Given the description of an element on the screen output the (x, y) to click on. 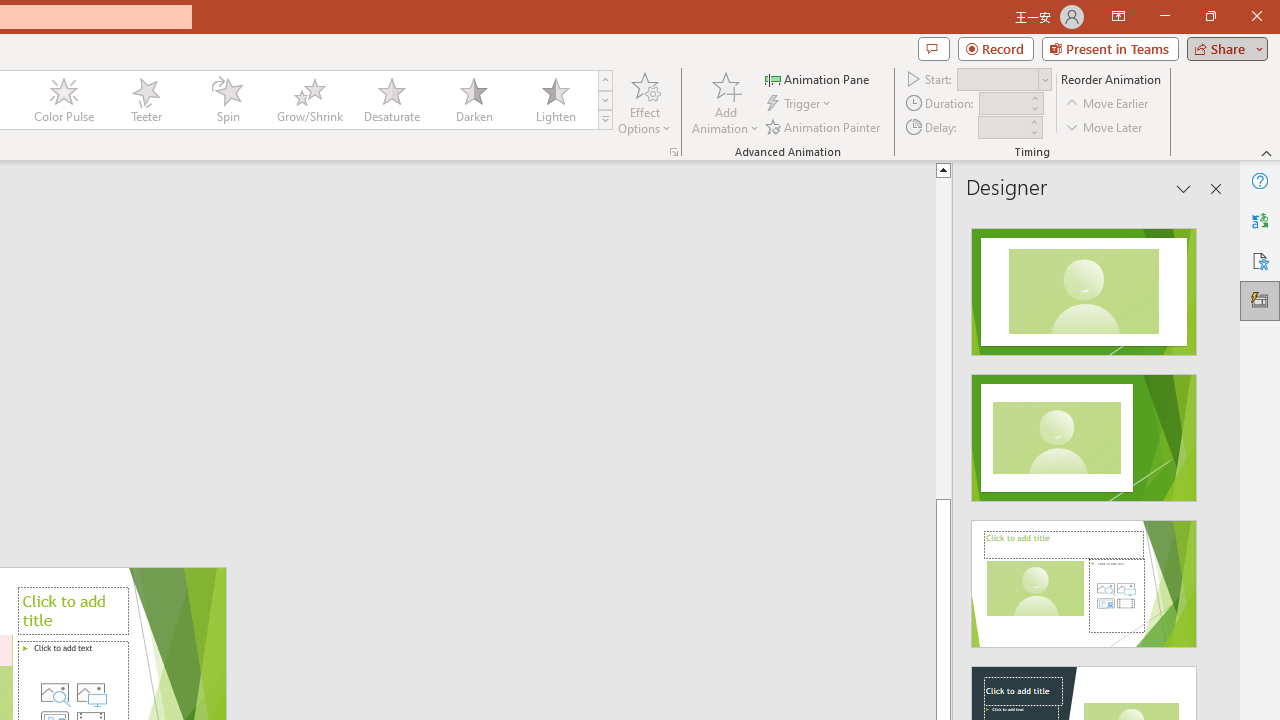
Teeter (145, 100)
Animation Duration (1003, 103)
More Options... (673, 151)
